Given the description of an element on the screen output the (x, y) to click on. 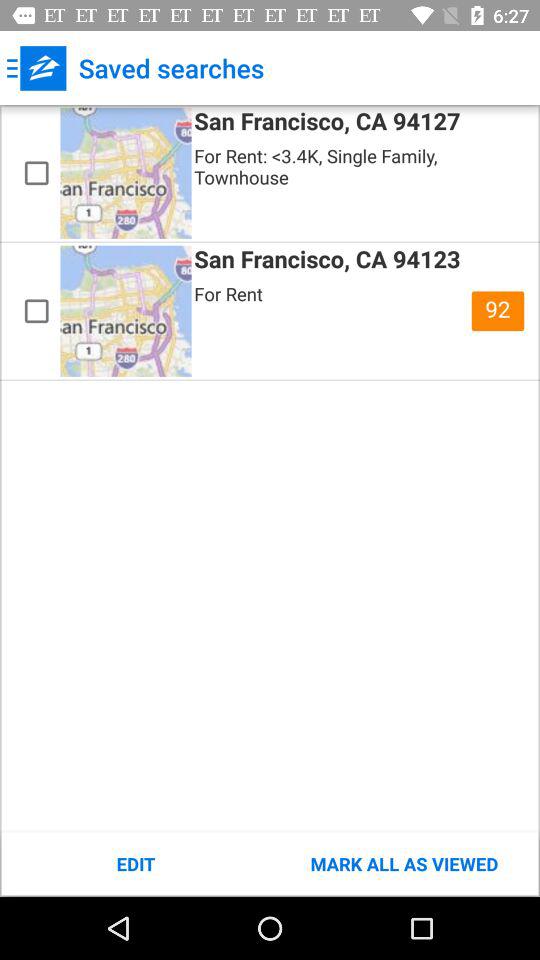
turn on the item at the bottom right corner (404, 863)
